Given the description of an element on the screen output the (x, y) to click on. 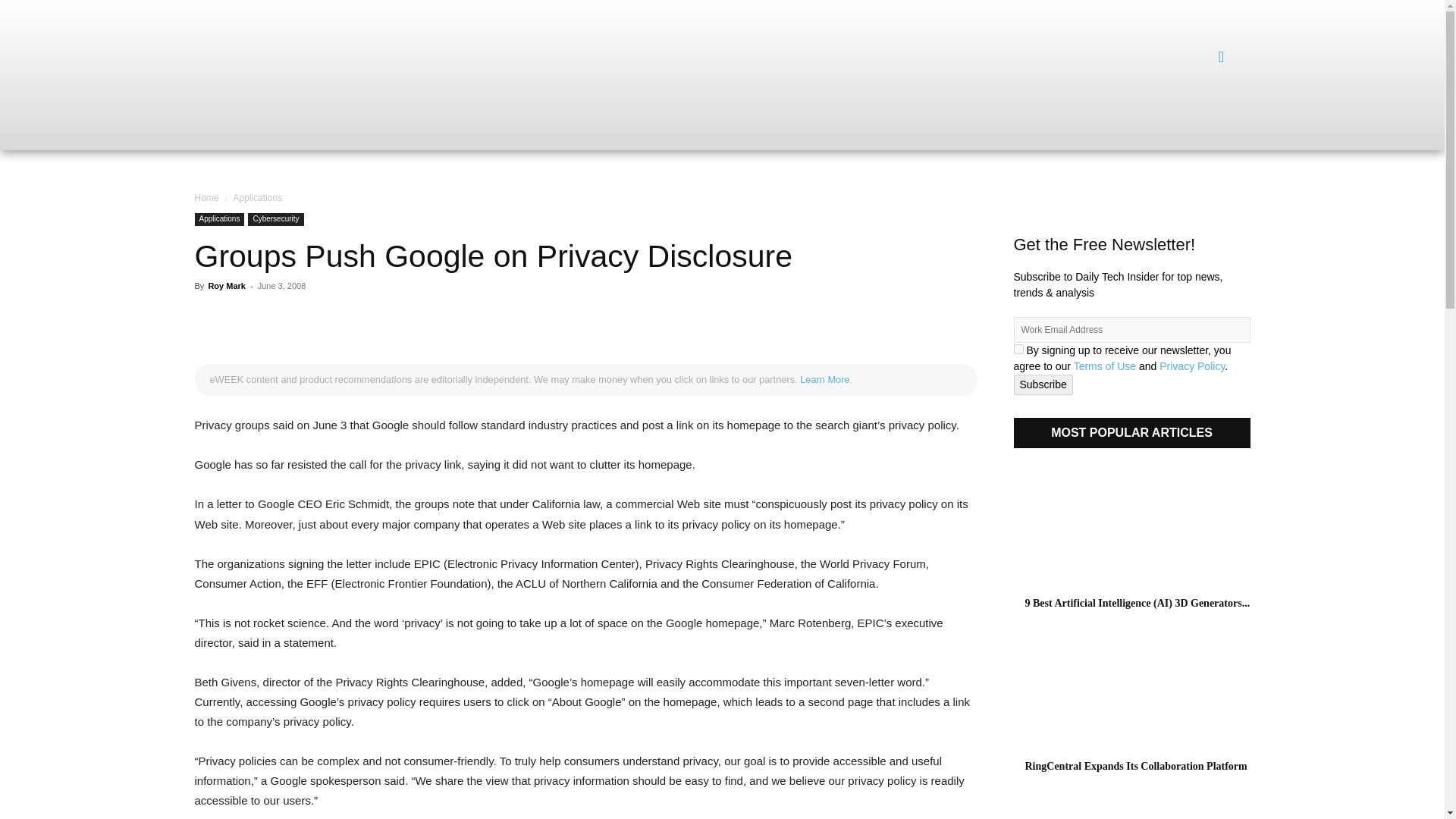
Zeus Kerravala on Networking: Multicloud, 5G, and Automation (1131, 816)
on (1018, 348)
RingCentral Expands Its Collaboration Platform (1131, 689)
RingCentral Expands Its Collaboration Platform (1136, 766)
